Given the description of an element on the screen output the (x, y) to click on. 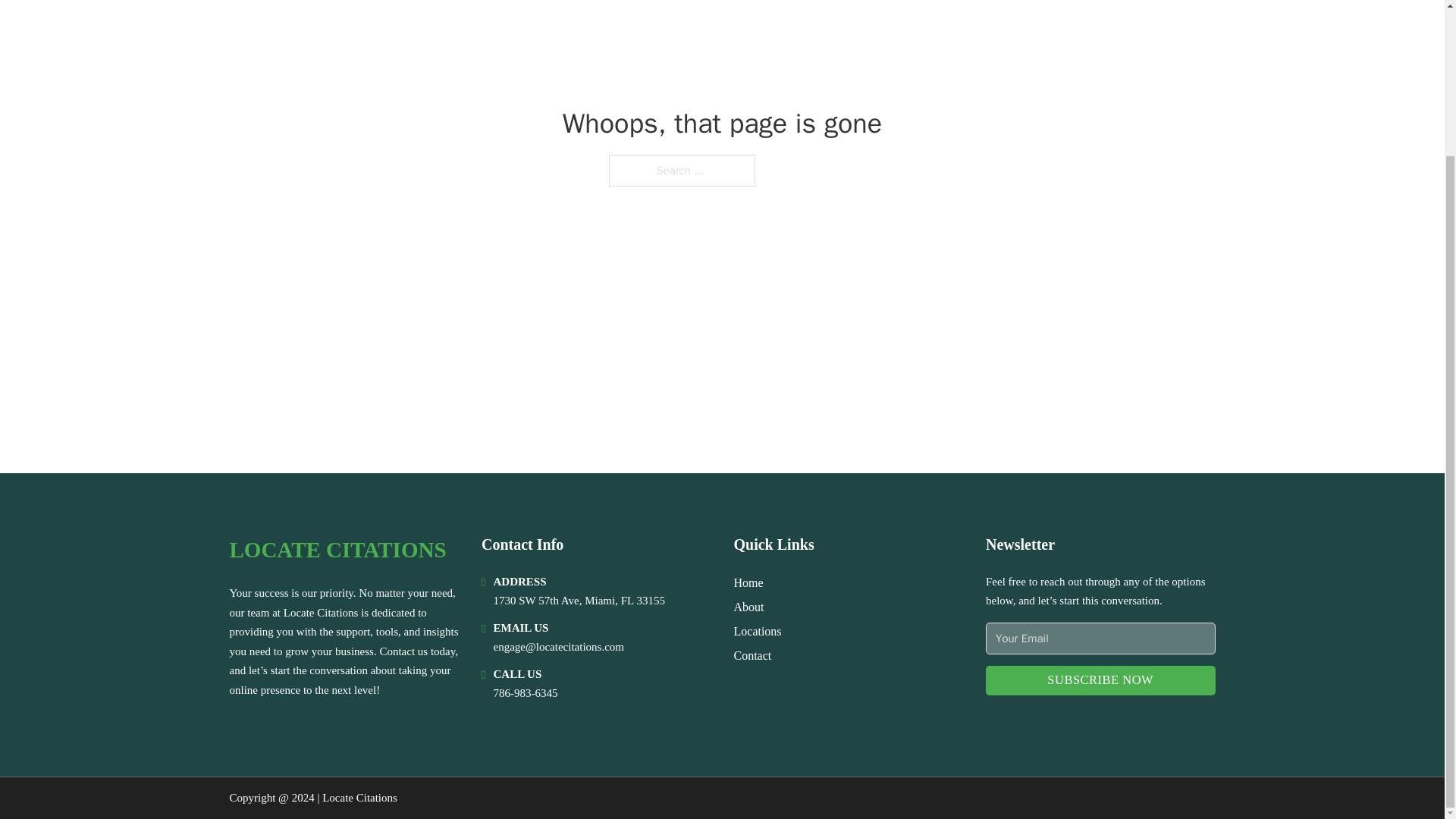
786-983-6345 (525, 693)
Home (747, 582)
Locations (757, 630)
About (748, 607)
Contact (752, 655)
LOCATE CITATIONS (336, 549)
SUBSCRIBE NOW (1100, 680)
